Given the description of an element on the screen output the (x, y) to click on. 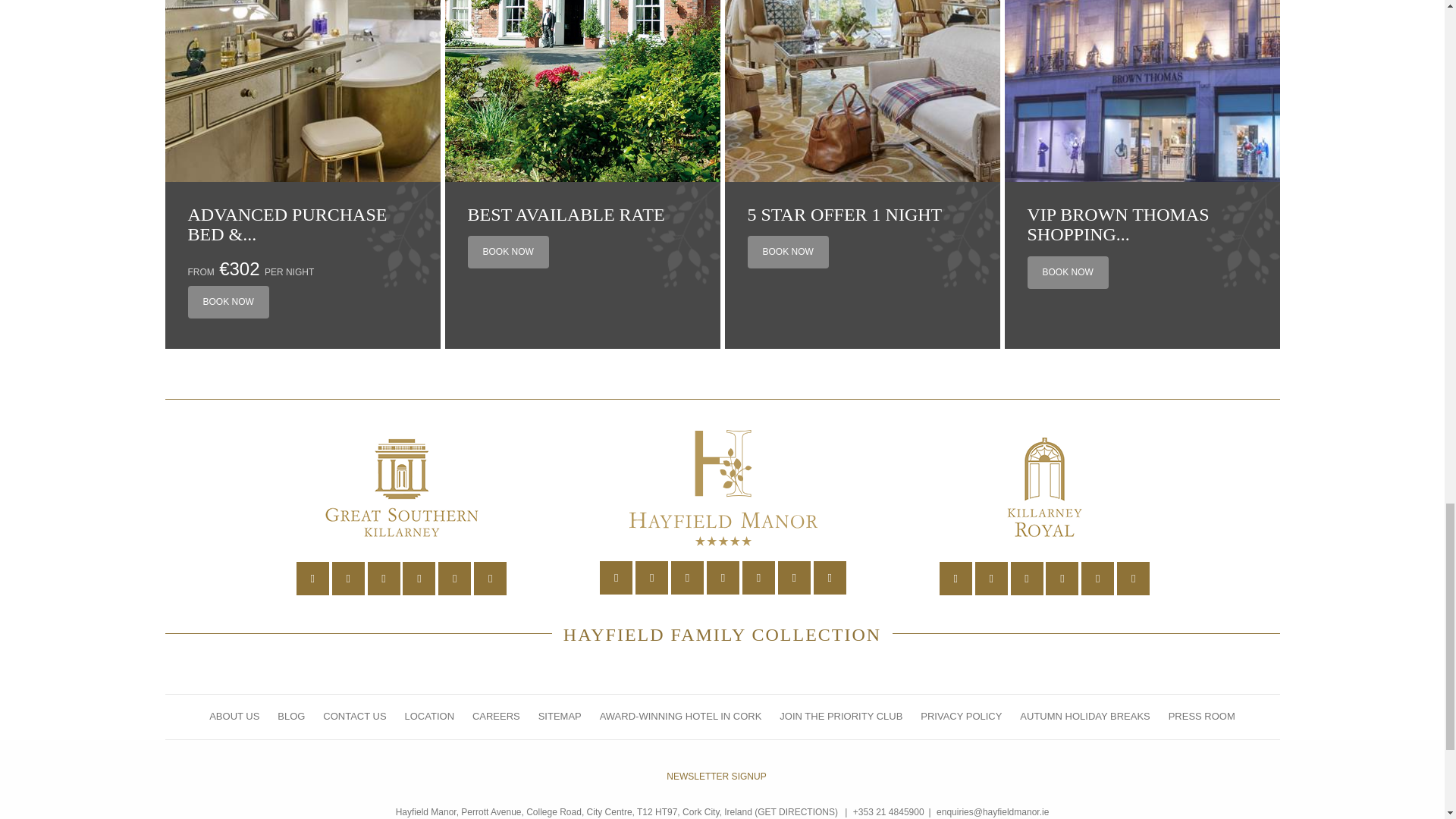
Pinterest (1097, 578)
Location (313, 578)
YouTube (722, 577)
Location (615, 577)
Instagram (419, 578)
Facebook (384, 578)
Twitter (348, 578)
TripAdvisor (490, 578)
TripAdvisor (829, 577)
Twitter (991, 578)
